Given the description of an element on the screen output the (x, y) to click on. 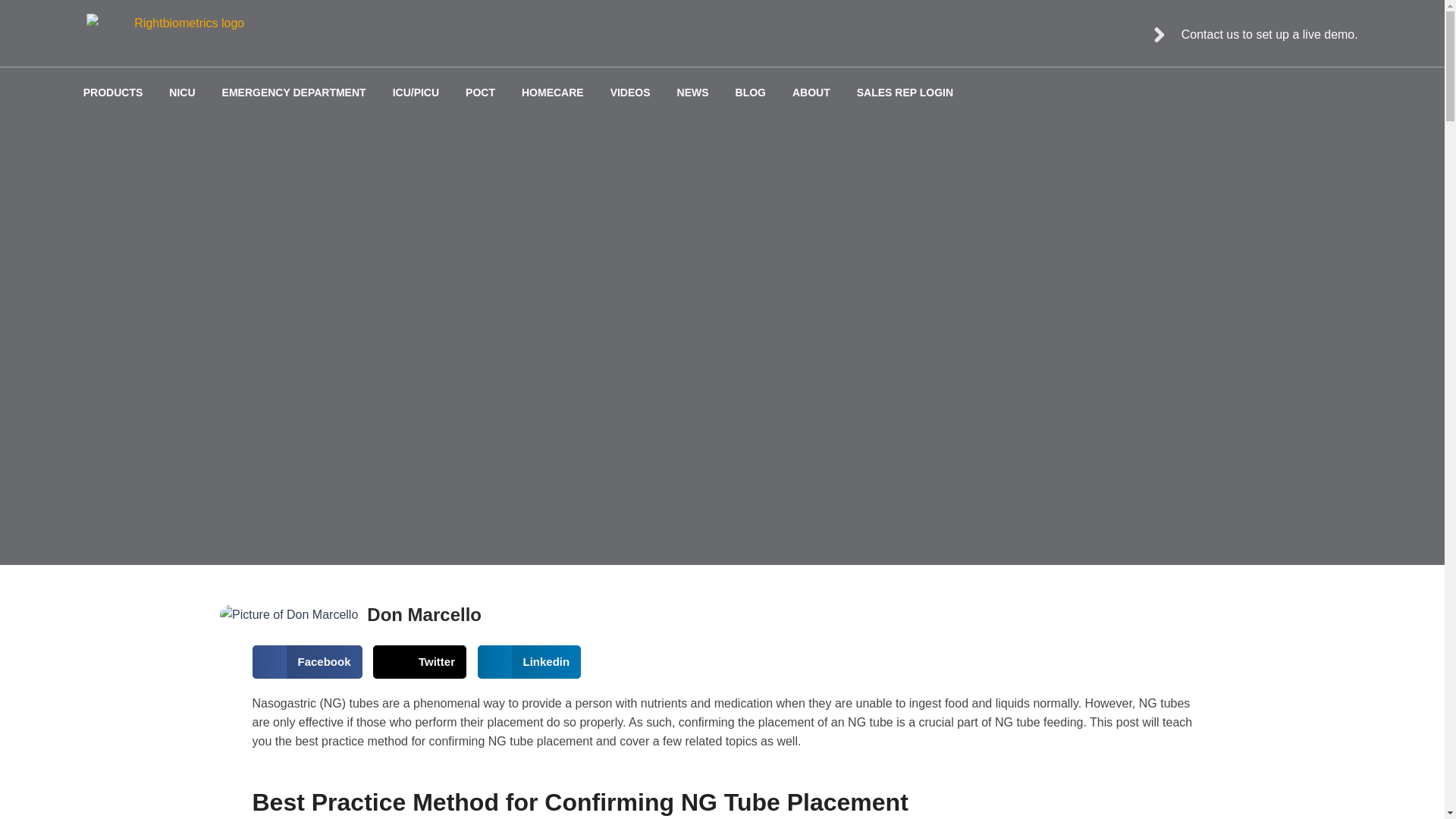
EMERGENCY DEPARTMENT (293, 92)
POCT (480, 92)
Contact us to set up a live demo. (1252, 34)
PRODUCTS (113, 92)
NEWS (692, 92)
NICU (181, 92)
VIDEOS (630, 92)
BLOG (751, 92)
SALES REP LOGIN (904, 92)
HOMECARE (553, 92)
